Given the description of an element on the screen output the (x, y) to click on. 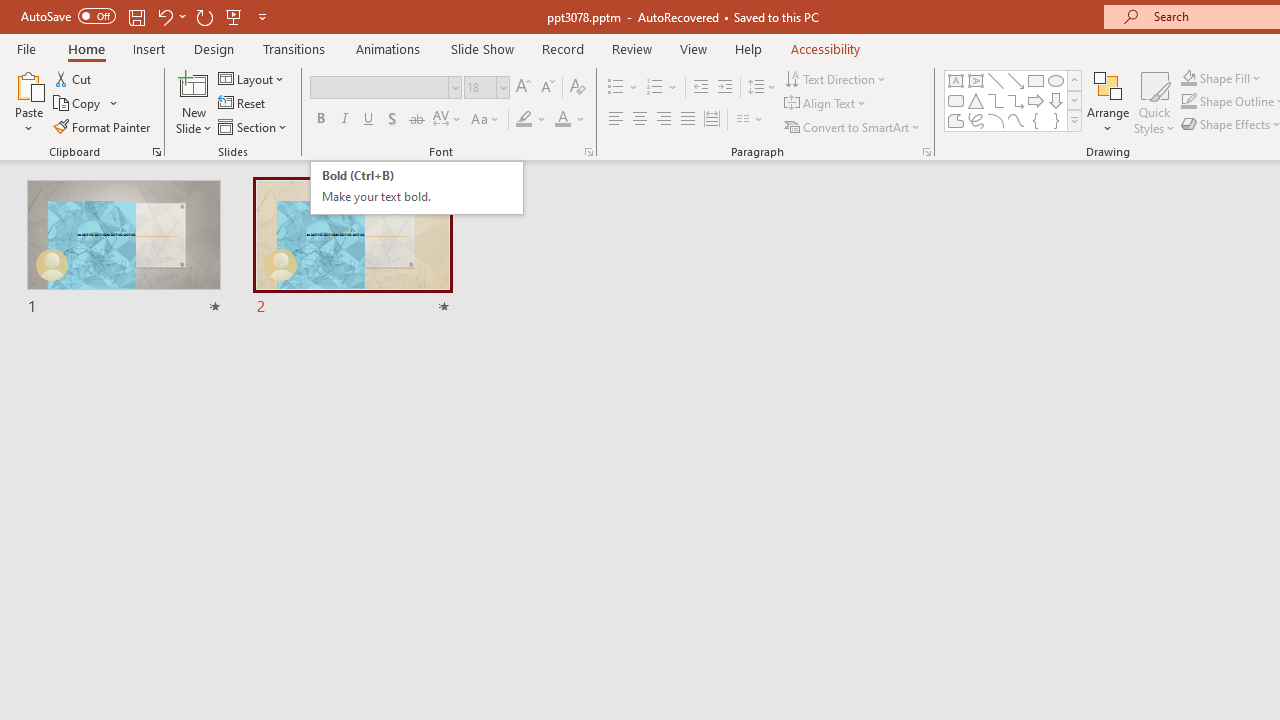
Increase Font Size (522, 87)
Decrease Indent (700, 87)
Font Color Red (562, 119)
Italic (344, 119)
Distributed (712, 119)
Text Direction (836, 78)
Align Text (826, 103)
